Given the description of an element on the screen output the (x, y) to click on. 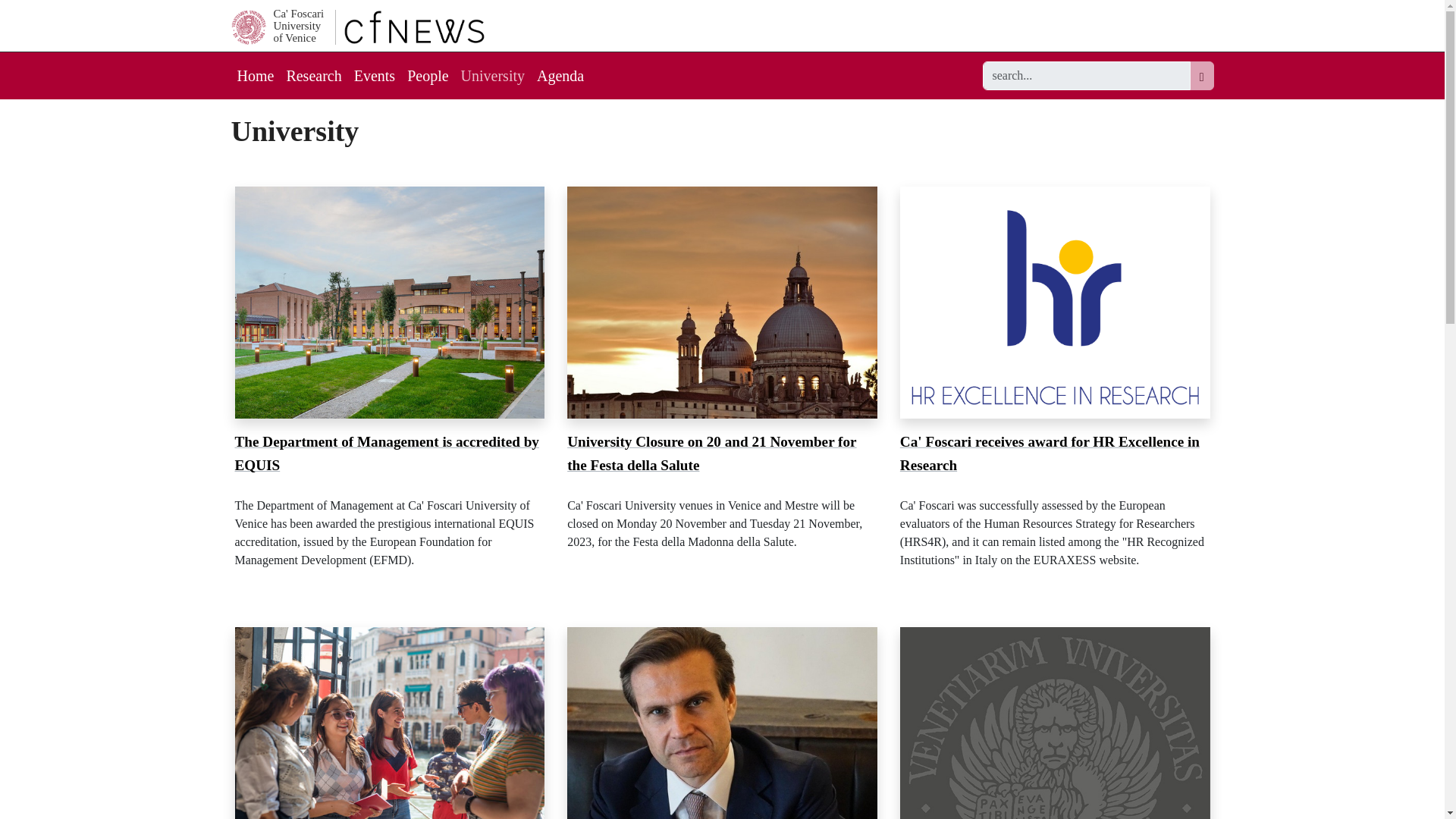
Research (313, 75)
Ca' Foscari receives award for HR Excellence in Research (1049, 453)
Agenda (298, 25)
search (560, 75)
University (1086, 75)
Events (492, 75)
People (374, 75)
Home (427, 75)
